Given the description of an element on the screen output the (x, y) to click on. 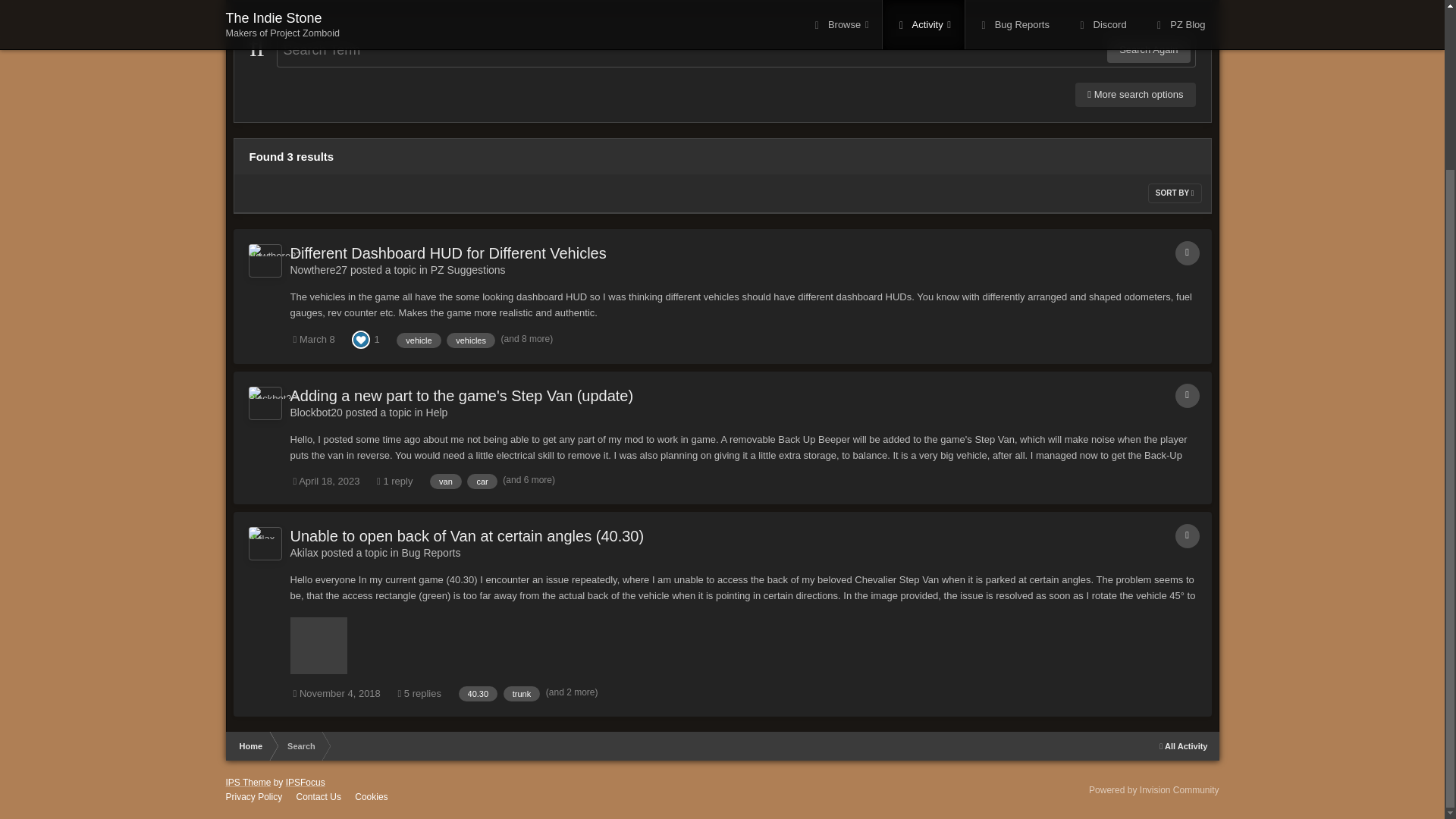
Search Again (1147, 49)
Go to Nowthere27's profile (318, 269)
See who reacted "Like" (360, 338)
Topic (1186, 252)
Find other content tagged with 'vehicles' (470, 340)
Go to Nowthere27's profile (265, 260)
More search options (1135, 94)
Find other content tagged with 'vehicle' (418, 340)
